Given the description of an element on the screen output the (x, y) to click on. 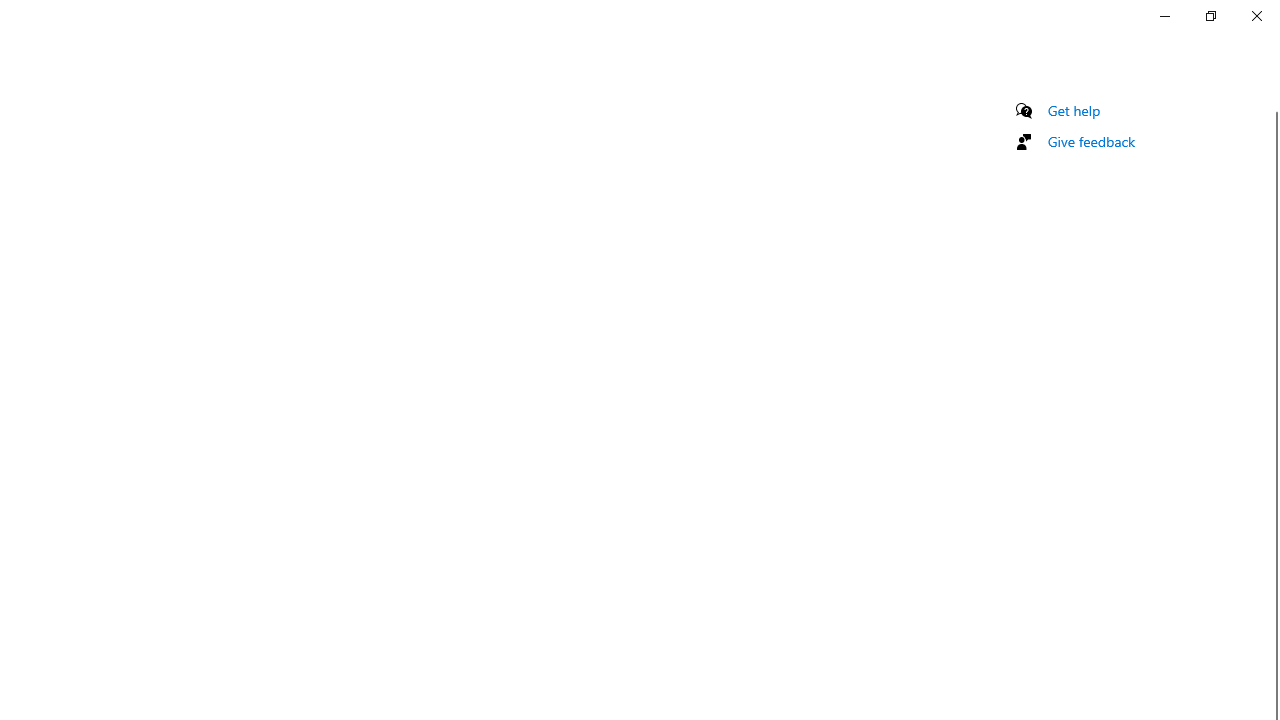
Get help (1074, 110)
Minimize Settings (1164, 15)
Give feedback (1091, 141)
Vertical Small Decrease (1272, 103)
Close Settings (1256, 15)
Restore Settings (1210, 15)
